Given the description of an element on the screen output the (x, y) to click on. 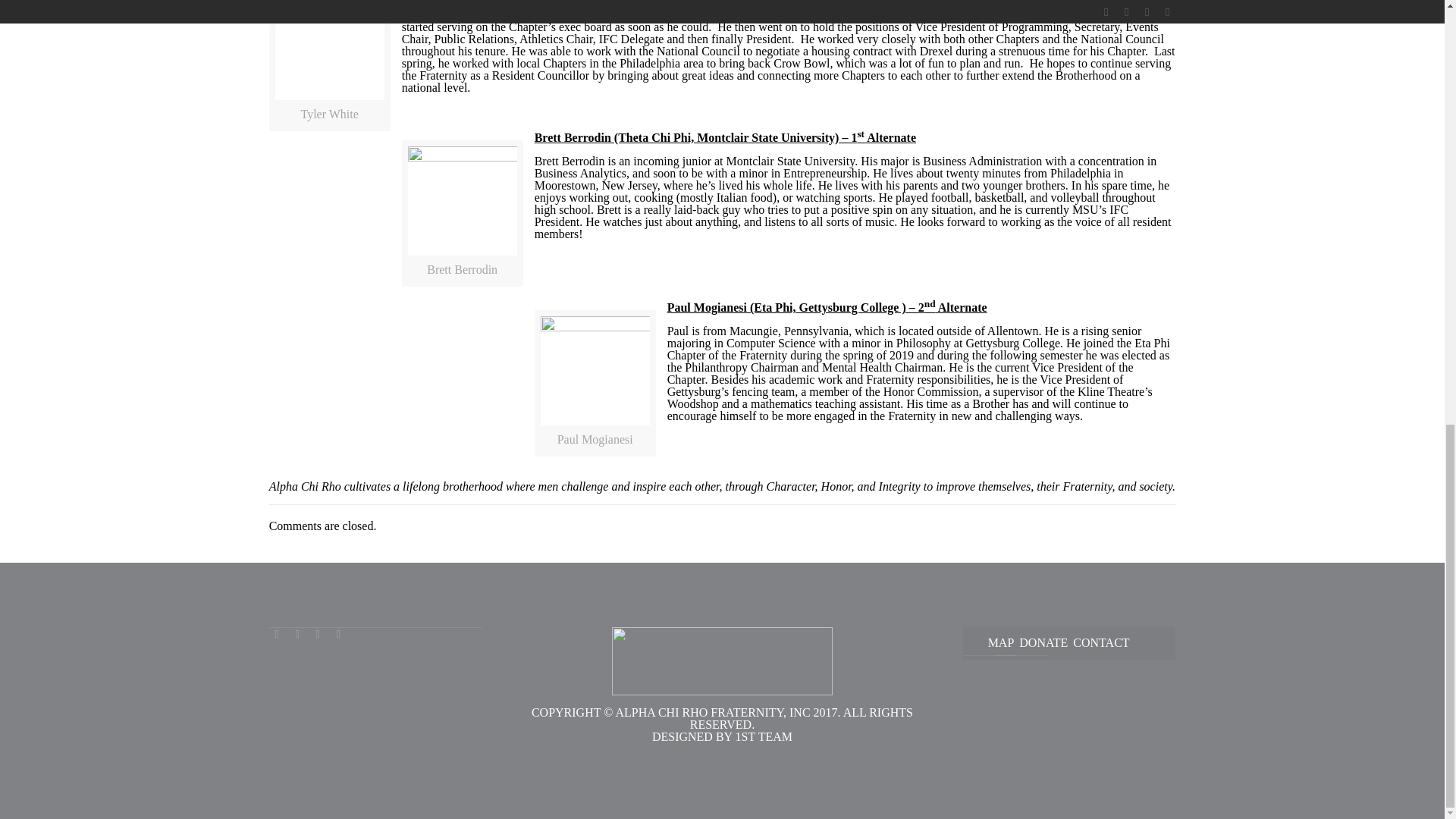
Instagram (338, 633)
Facebook (277, 633)
Twitter (297, 633)
LinkedIn (318, 633)
